Given the description of an element on the screen output the (x, y) to click on. 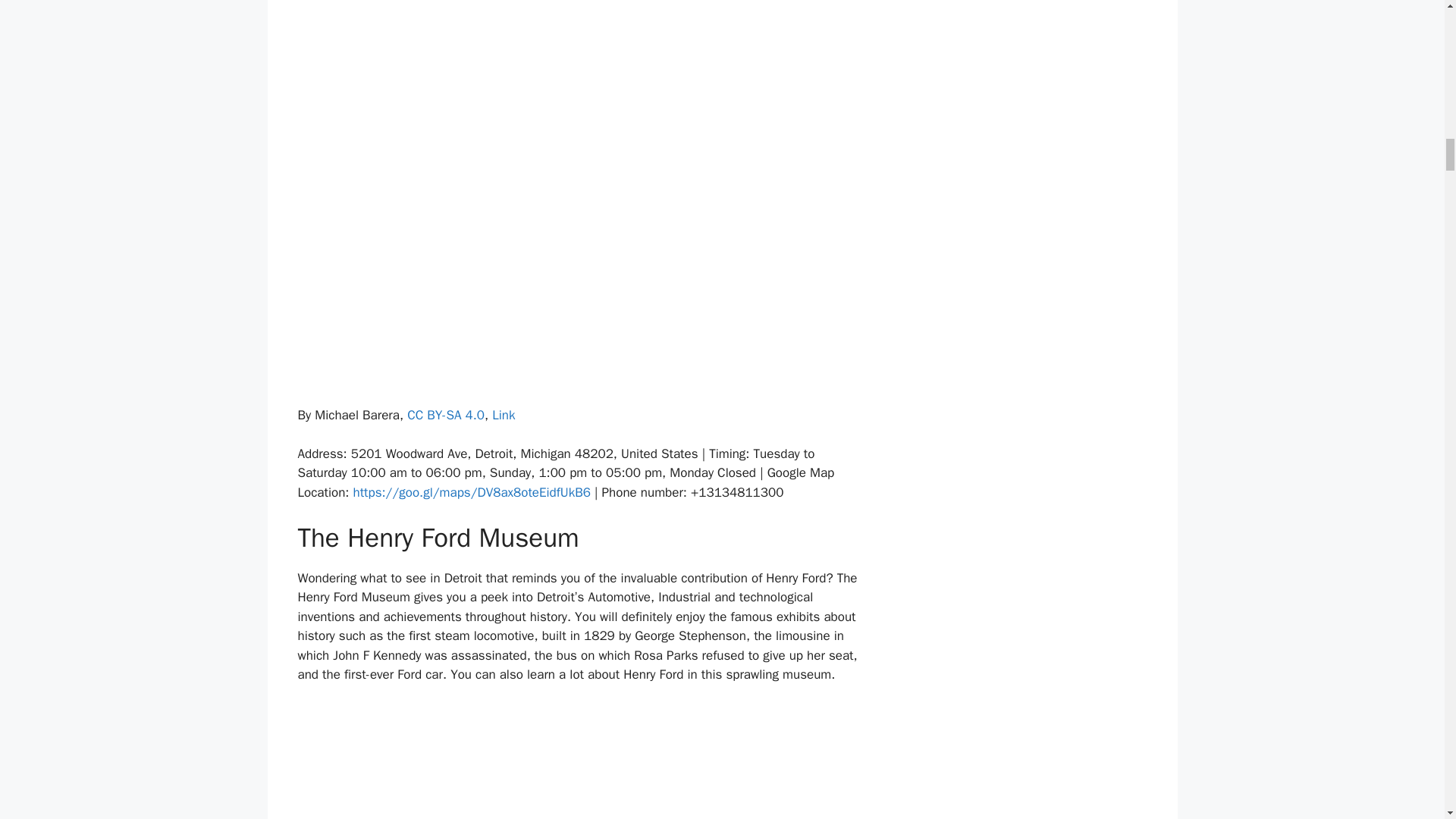
Creative Commons Attribution-Share Alike 4.0 (445, 415)
